Given the description of an element on the screen output the (x, y) to click on. 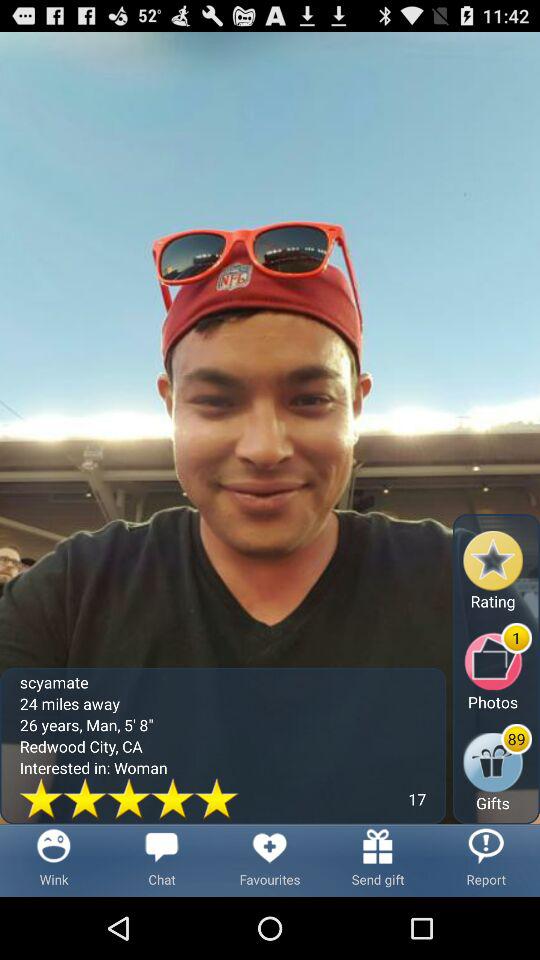
launch button to the left of send gift item (270, 860)
